Given the description of an element on the screen output the (x, y) to click on. 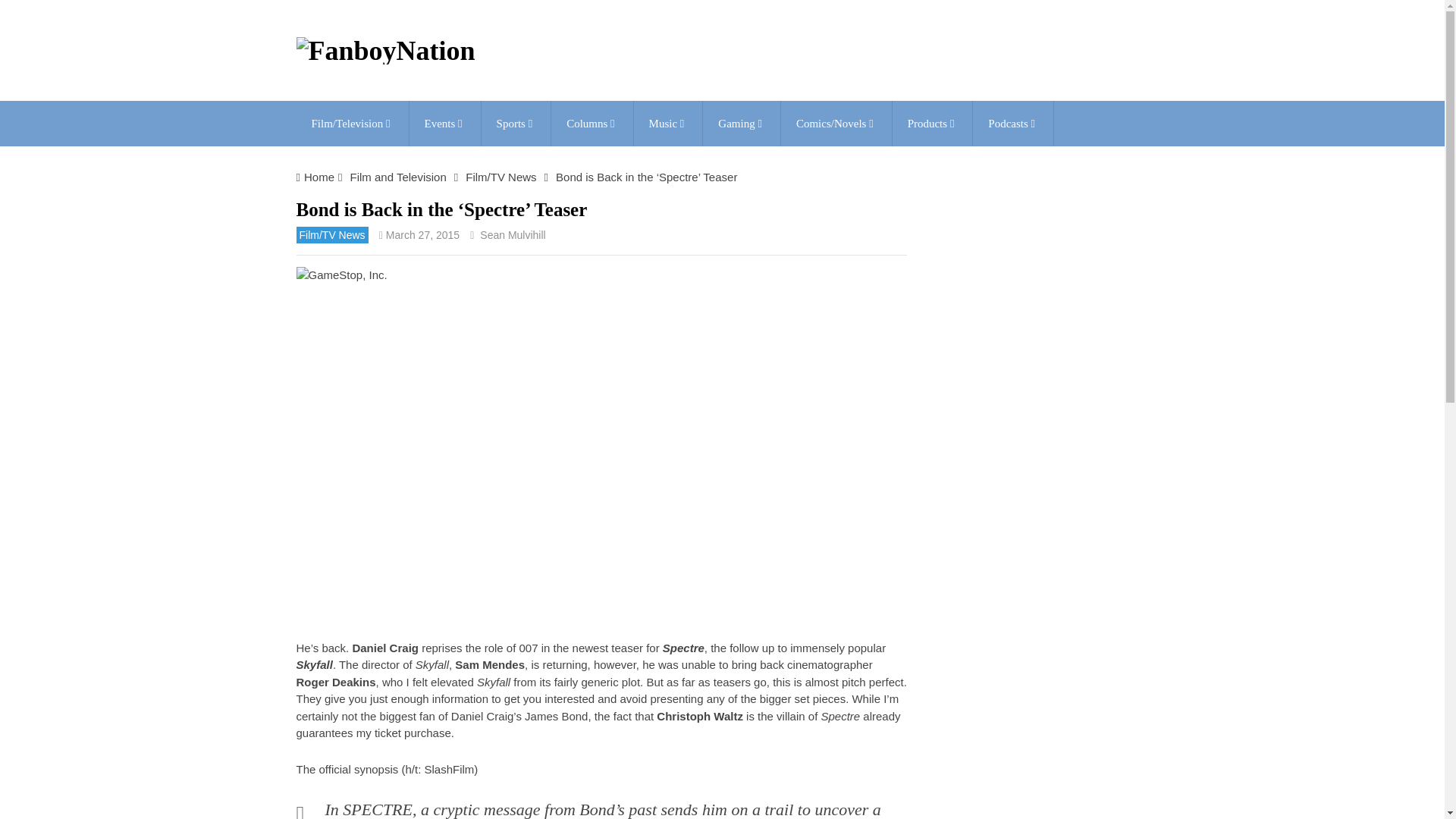
Products (932, 123)
Sports (516, 123)
Podcasts (1012, 123)
Music (668, 123)
Columns (591, 123)
Sean Mulvihill (512, 234)
Events (444, 123)
Cons and Expos (444, 123)
SlashFilm (448, 768)
Home (319, 176)
